Given the description of an element on the screen output the (x, y) to click on. 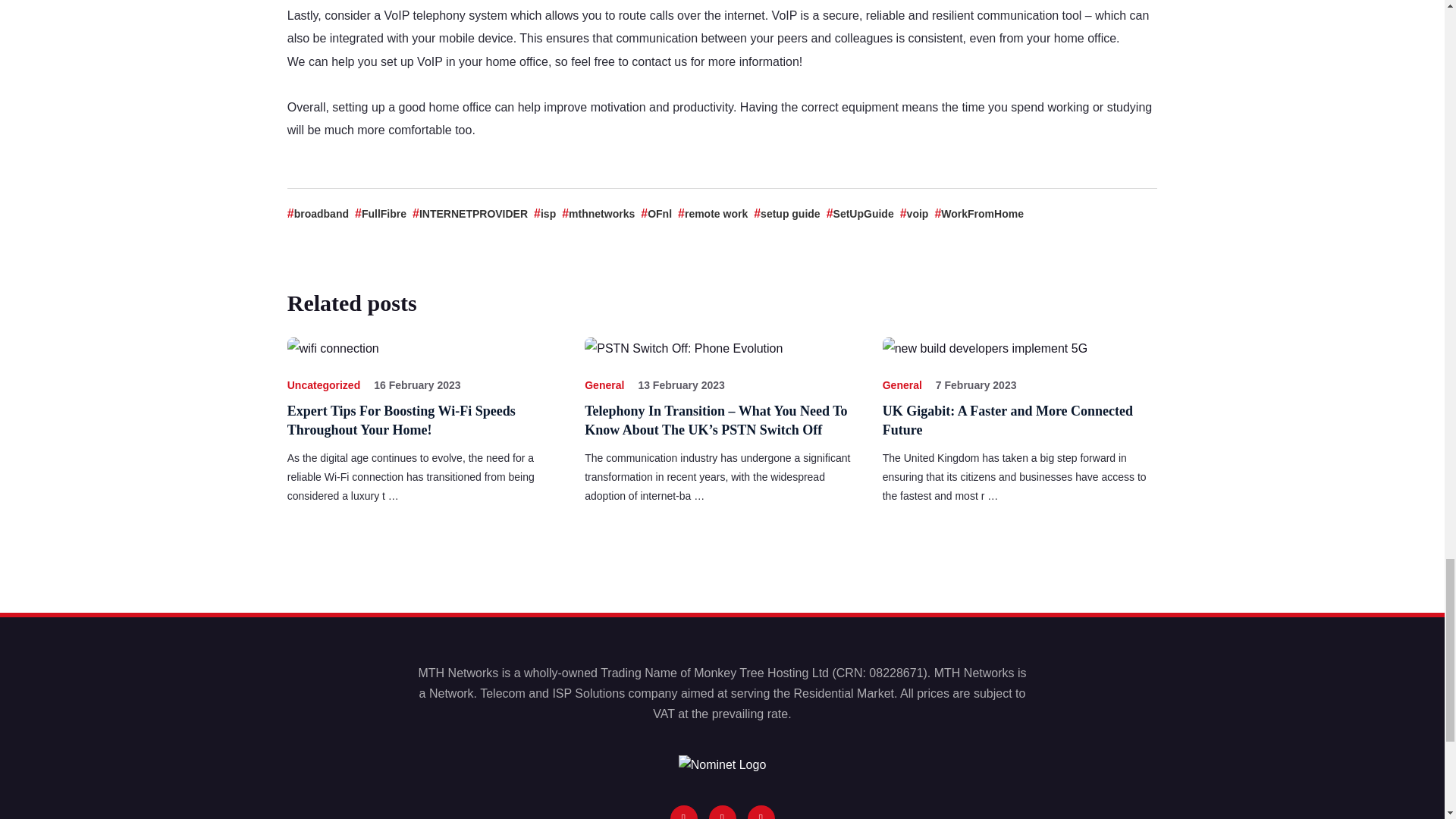
SetUpGuide (860, 213)
isp (545, 213)
FullFibre (380, 213)
voip (913, 213)
broadband (317, 213)
OFnl (655, 213)
setup guide (786, 213)
WorkFromHome (978, 213)
mthnetworks (598, 213)
remote work (713, 213)
